Given the description of an element on the screen output the (x, y) to click on. 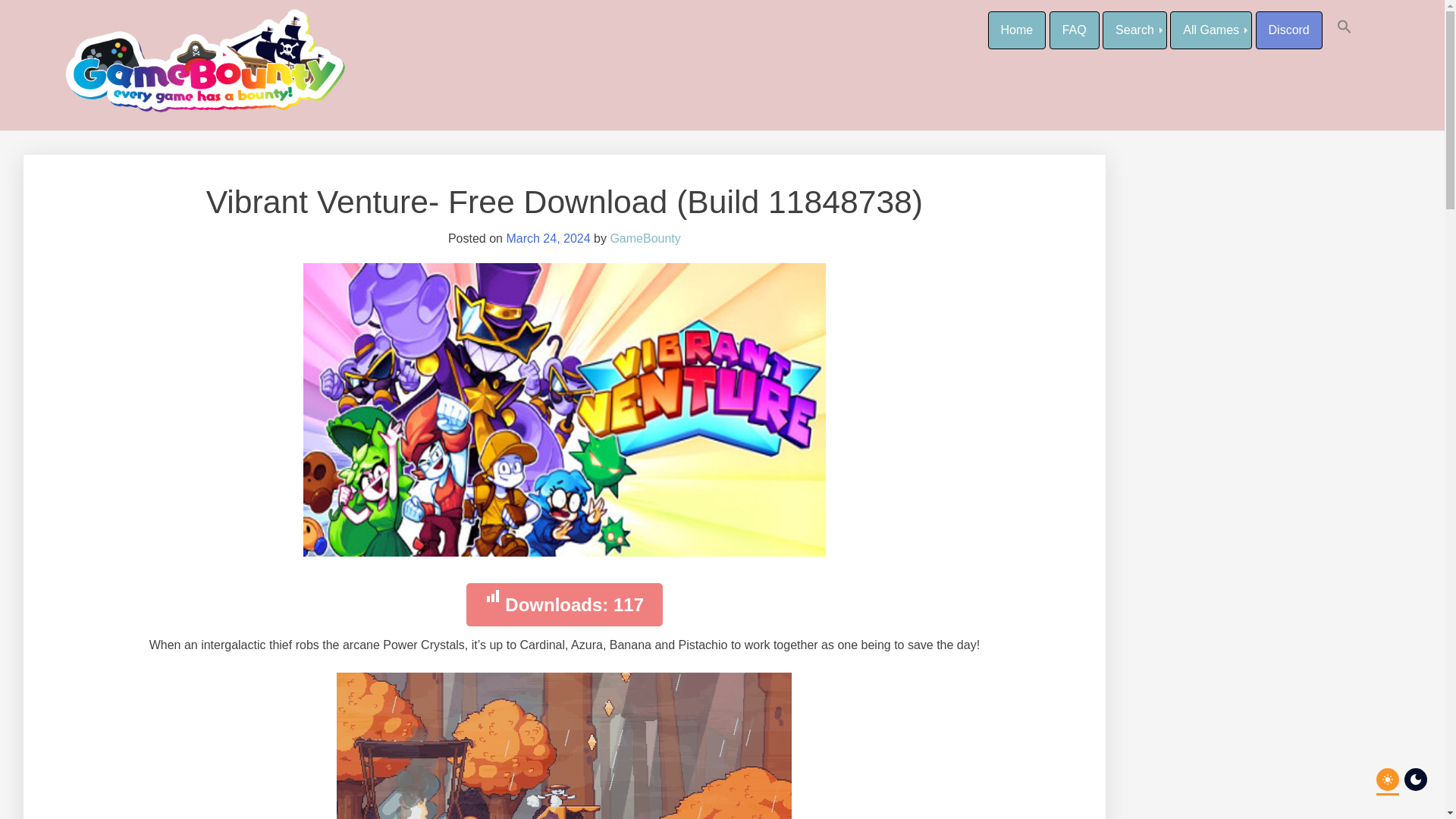
discordMenuLink (1288, 30)
Search (1134, 30)
FAQ (1074, 30)
Game Bounty (134, 24)
GameBounty (644, 237)
faqMenuLink (1074, 30)
homeMenuLink (1016, 30)
March 24, 2024 (547, 237)
Home (1016, 30)
allgMenuLink (1134, 30)
Discord (1288, 30)
All Games (1211, 30)
allgMenuLink (1211, 30)
